Given the description of an element on the screen output the (x, y) to click on. 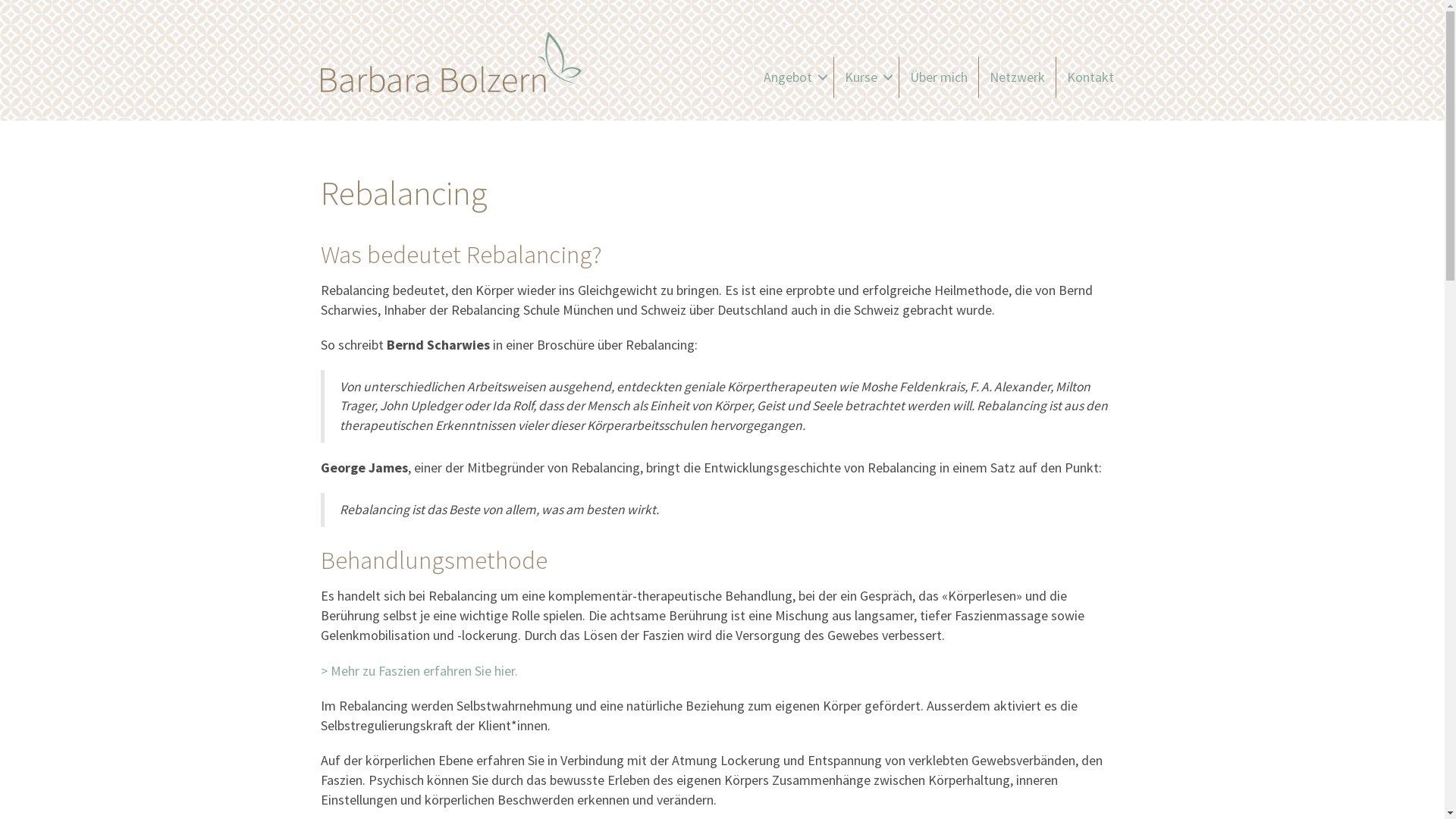
Kontakt Element type: text (1089, 76)
Netzwerk Element type: text (1016, 76)
> Mehr zu Faszien erfahren Sie hier. Element type: text (418, 670)
Angebot Element type: text (792, 76)
Kurse Element type: text (866, 76)
logo_barbara-bolzern_440 Element type: hover (451, 62)
